Given the description of an element on the screen output the (x, y) to click on. 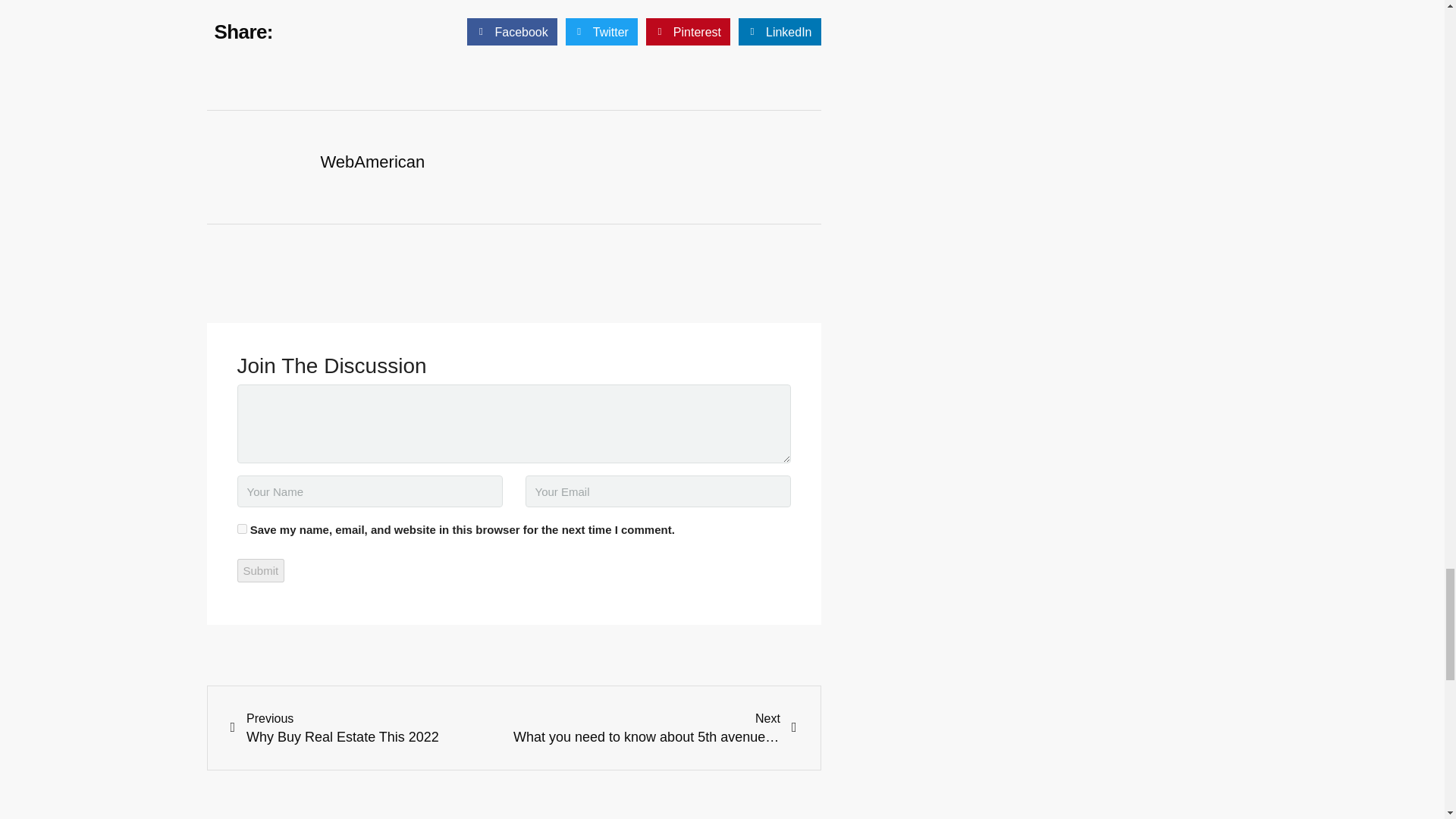
yes (240, 528)
Submit (259, 570)
